Given the description of an element on the screen output the (x, y) to click on. 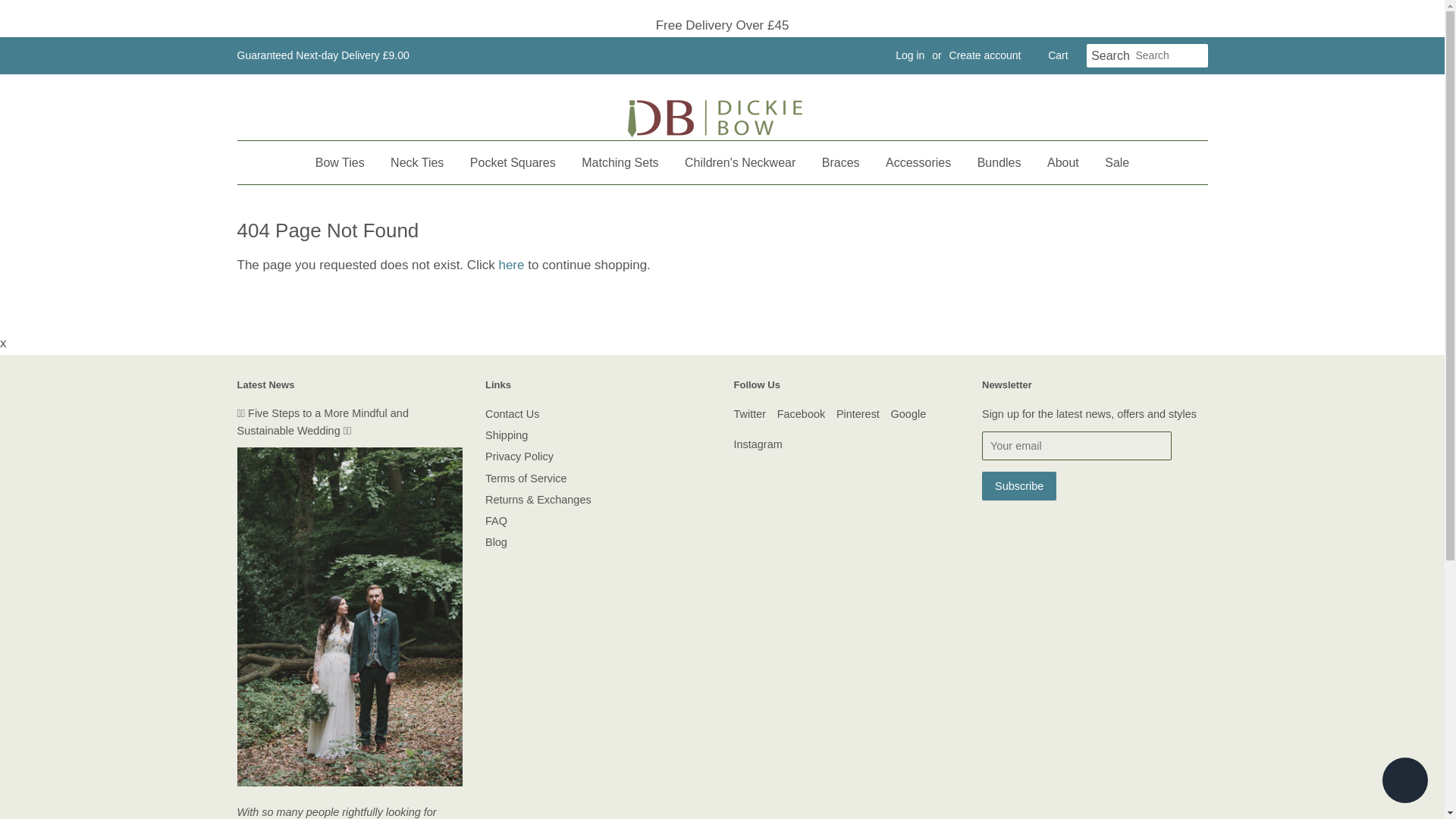
Log in (909, 55)
Create account (985, 55)
Dickie Bow on Facebook (801, 413)
Dickie Bow on Google Plus (908, 413)
Shopify online store chat (1404, 781)
Dickie Bow on Instagram (758, 444)
Dickie Bow on Twitter (750, 413)
Cart (1057, 55)
Search (1110, 56)
Dickie Bow on Pinterest (857, 413)
